Given the description of an element on the screen output the (x, y) to click on. 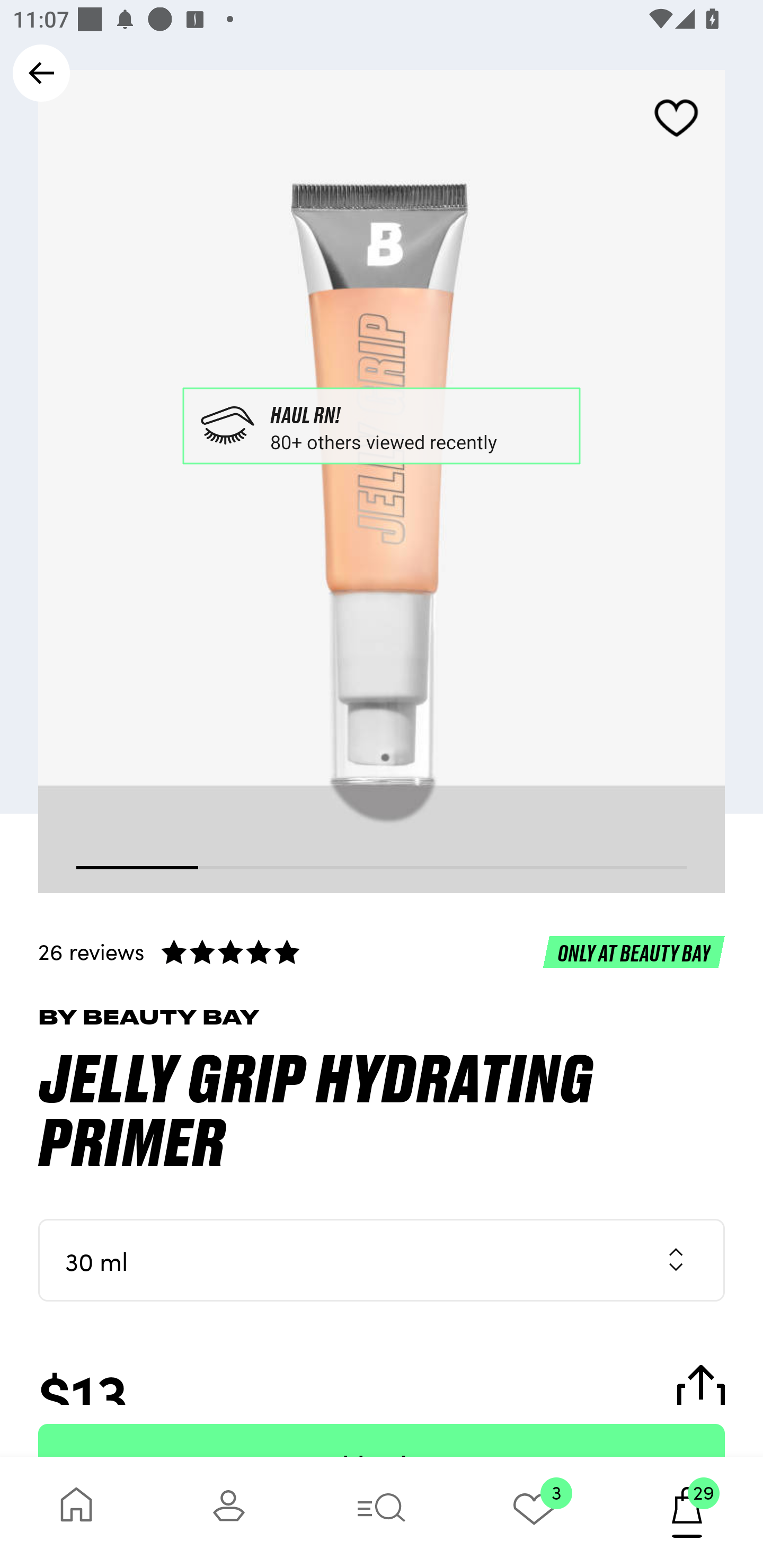
26 reviews (381, 950)
30 ml  (381, 1259)
3 (533, 1512)
29 (686, 1512)
